Given the description of an element on the screen output the (x, y) to click on. 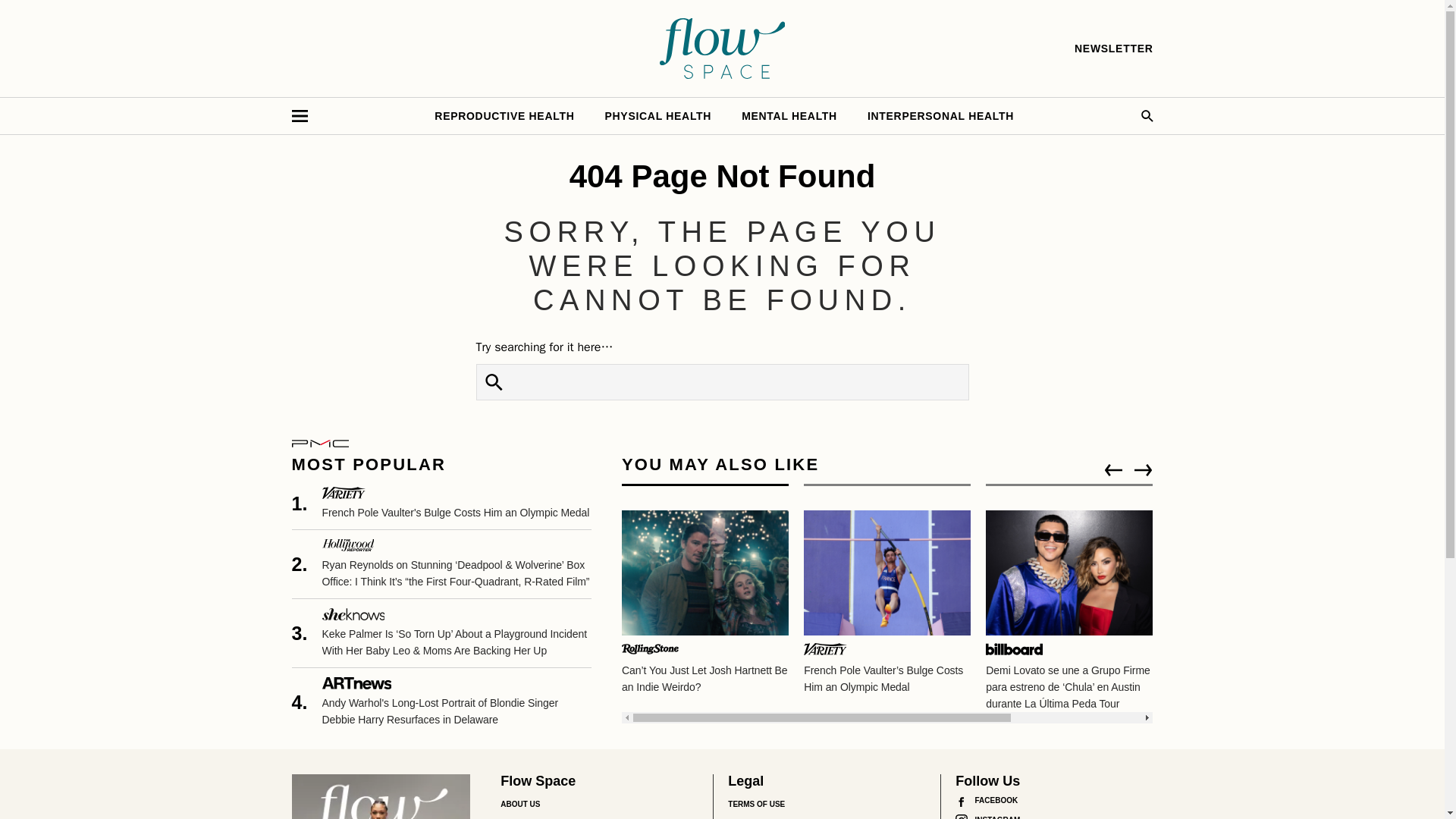
NEWSLETTER (1113, 48)
INTERPERSONAL HEALTH (940, 115)
Submit (494, 381)
MENTAL HEALTH (789, 115)
PHYSICAL HEALTH (658, 115)
REPRODUCTIVE HEALTH (503, 115)
